Given the description of an element on the screen output the (x, y) to click on. 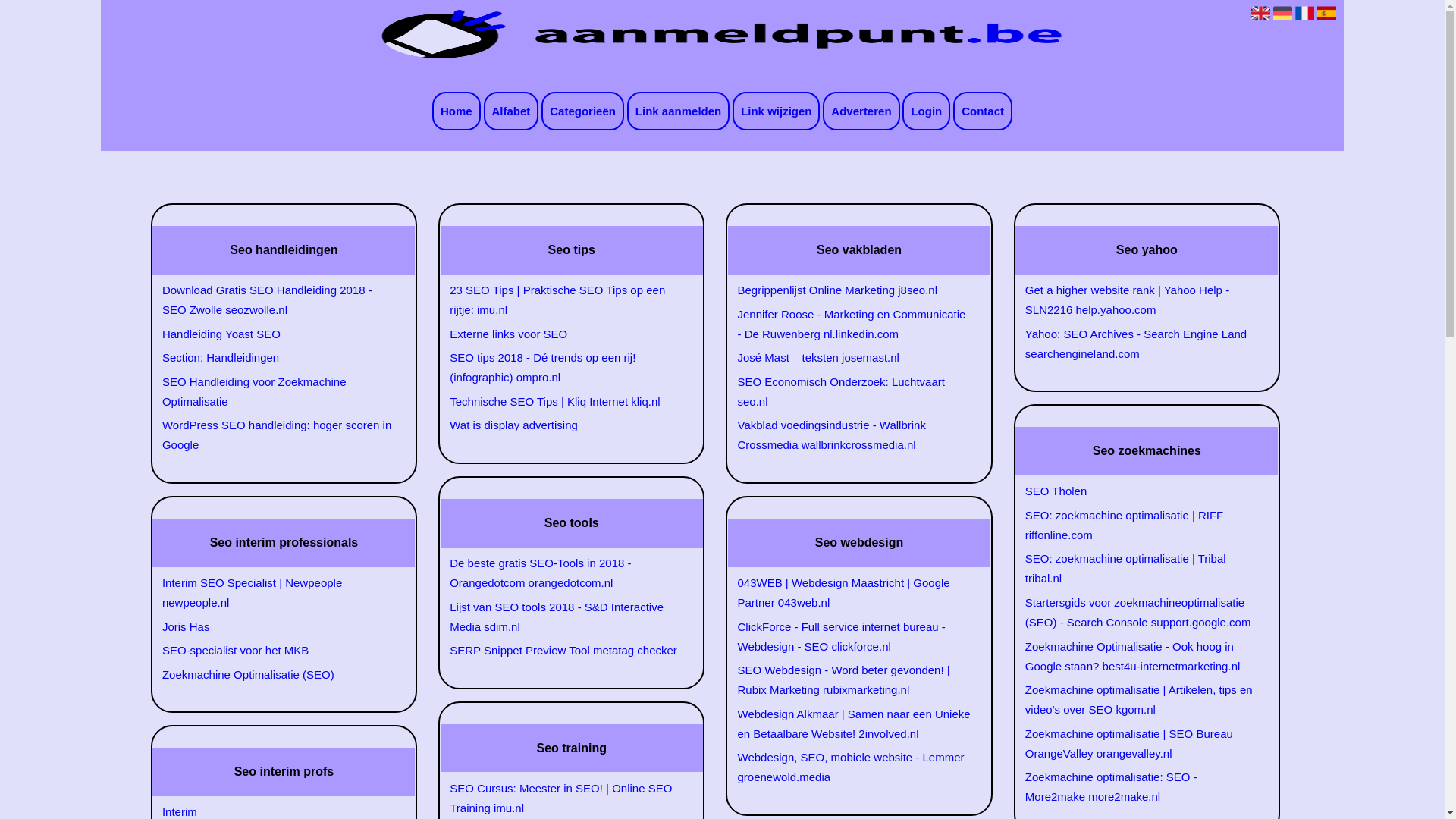
SERP Snippet Preview Tool metatag checker Element type: text (562, 650)
Begrippenlijst Online Marketing j8seo.nl Element type: text (849, 290)
Login Element type: text (926, 110)
Wat is display advertising Element type: text (562, 425)
Joris Has Element type: text (274, 627)
Zoekmachine Optimalisatie (SEO) Element type: text (274, 674)
SEO: zoekmachine optimalisatie | Tribal tribal.nl Element type: text (1137, 568)
SEO Tholen Element type: text (1137, 491)
Webdesign, SEO, mobiele website - Lemmer groenewold.media Element type: text (849, 767)
Technische SEO Tips | Kliq Internet kliq.nl Element type: text (562, 401)
043WEB | Webdesign Maastricht | Google Partner 043web.nl Element type: text (849, 592)
Lijst van SEO tools 2018 - S&D Interactive Media sdim.nl Element type: text (562, 617)
Externe links voor SEO Element type: text (562, 334)
Home Element type: text (456, 110)
SEO Economisch Onderzoek: Luchtvaart seo.nl Element type: text (849, 391)
Handleiding Yoast SEO Element type: text (274, 334)
SEO-specialist voor het MKB Element type: text (274, 650)
Link aanmelden Element type: text (678, 110)
Section: Handleidingen Element type: text (274, 357)
Adverteren Element type: text (860, 110)
SEO Cursus: Meester in SEO! | Online SEO Training imu.nl Element type: text (562, 798)
23 SEO Tips | Praktische SEO Tips op een rijtje: imu.nl Element type: text (562, 300)
Interim SEO Specialist | Newpeople newpeople.nl Element type: text (274, 592)
SEO Handleiding voor Zoekmachine Optimalisatie Element type: text (274, 391)
Alfabet Element type: text (511, 110)
Zoekmachine optimalisatie: SEO - More2make more2make.nl Element type: text (1137, 786)
WordPress SEO handleiding: hoger scoren in Google Element type: text (274, 435)
SEO: zoekmachine optimalisatie | RIFF riffonline.com Element type: text (1137, 525)
Link wijzigen Element type: text (775, 110)
Contact Element type: text (982, 110)
